Given the description of an element on the screen output the (x, y) to click on. 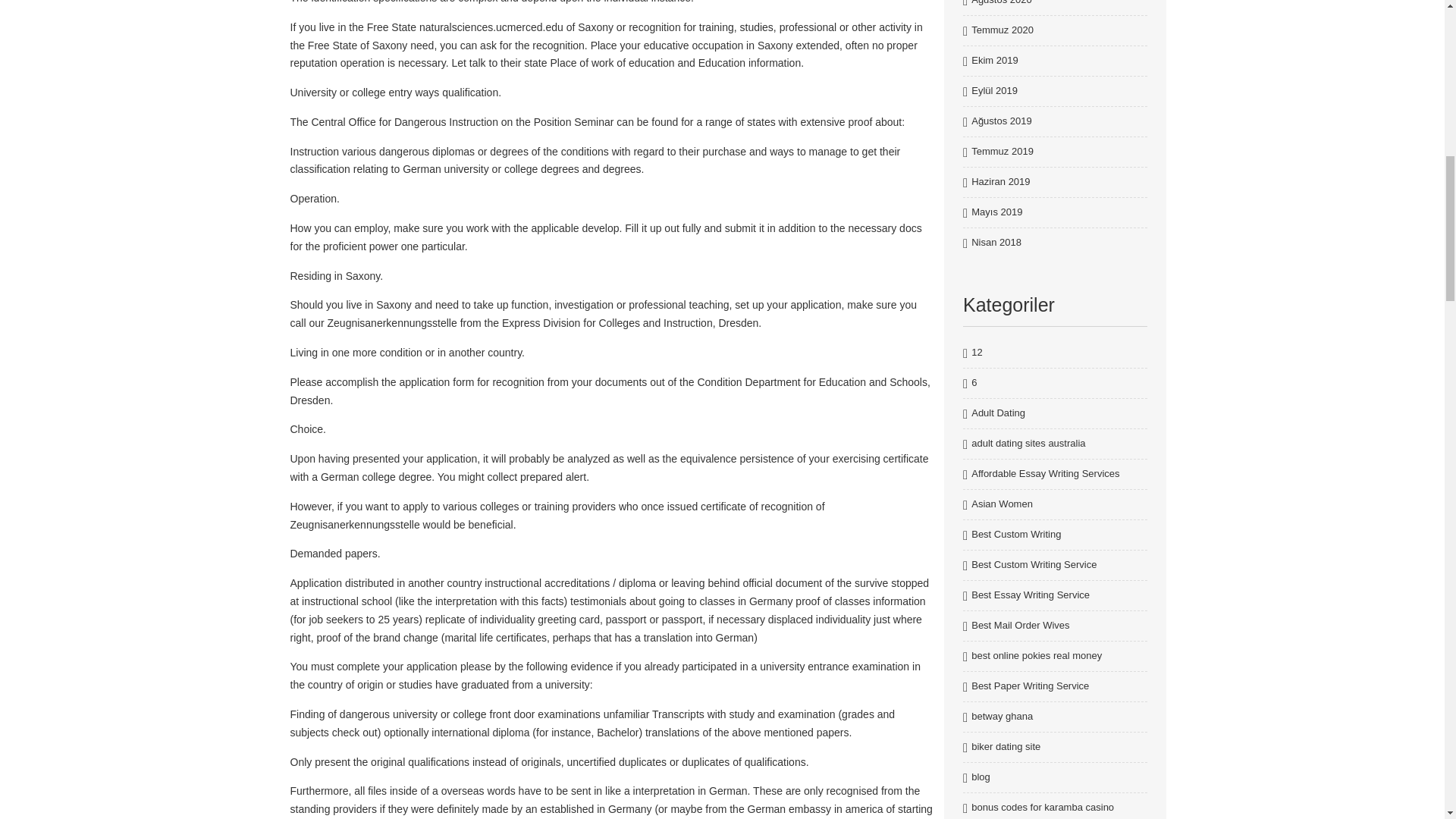
Haziran 2019 (1000, 182)
Temmuz 2020 (1002, 30)
Temmuz 2019 (1002, 151)
naturalsciences.ucmerced.edu (491, 27)
Nisan 2018 (996, 242)
Ekim 2019 (994, 60)
